Given the description of an element on the screen output the (x, y) to click on. 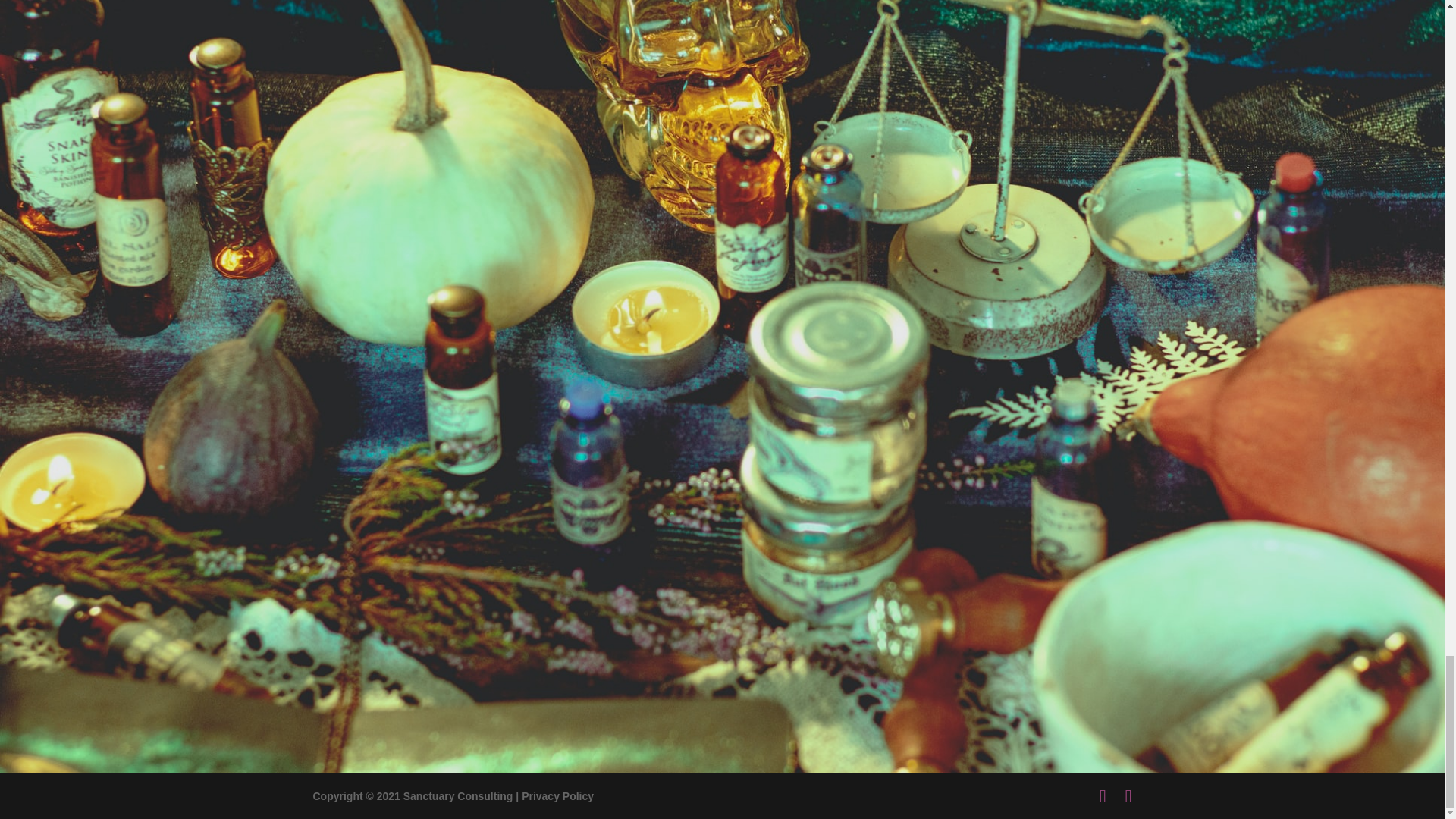
Privacy Policy (557, 796)
